Given the description of an element on the screen output the (x, y) to click on. 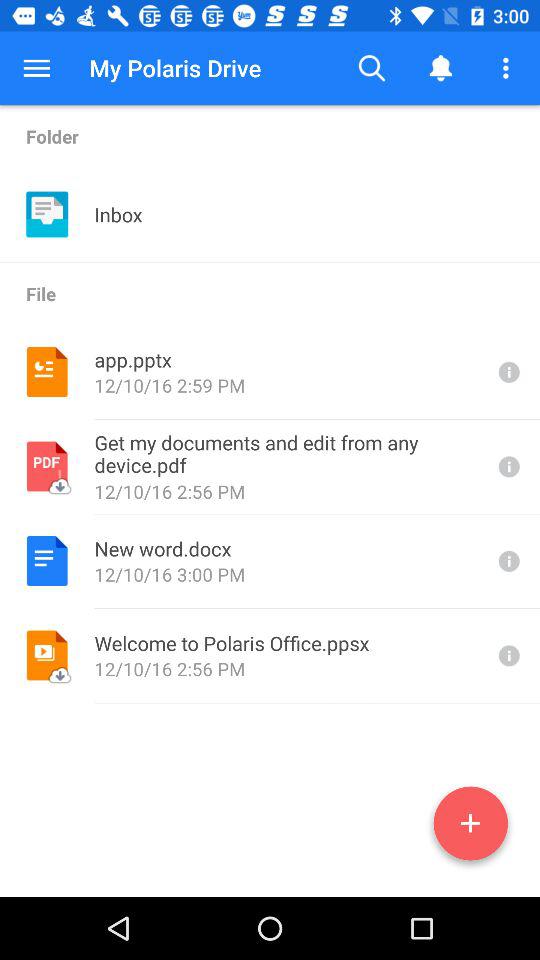
information about welcome to polaris office powerpoint (507, 655)
